Given the description of an element on the screen output the (x, y) to click on. 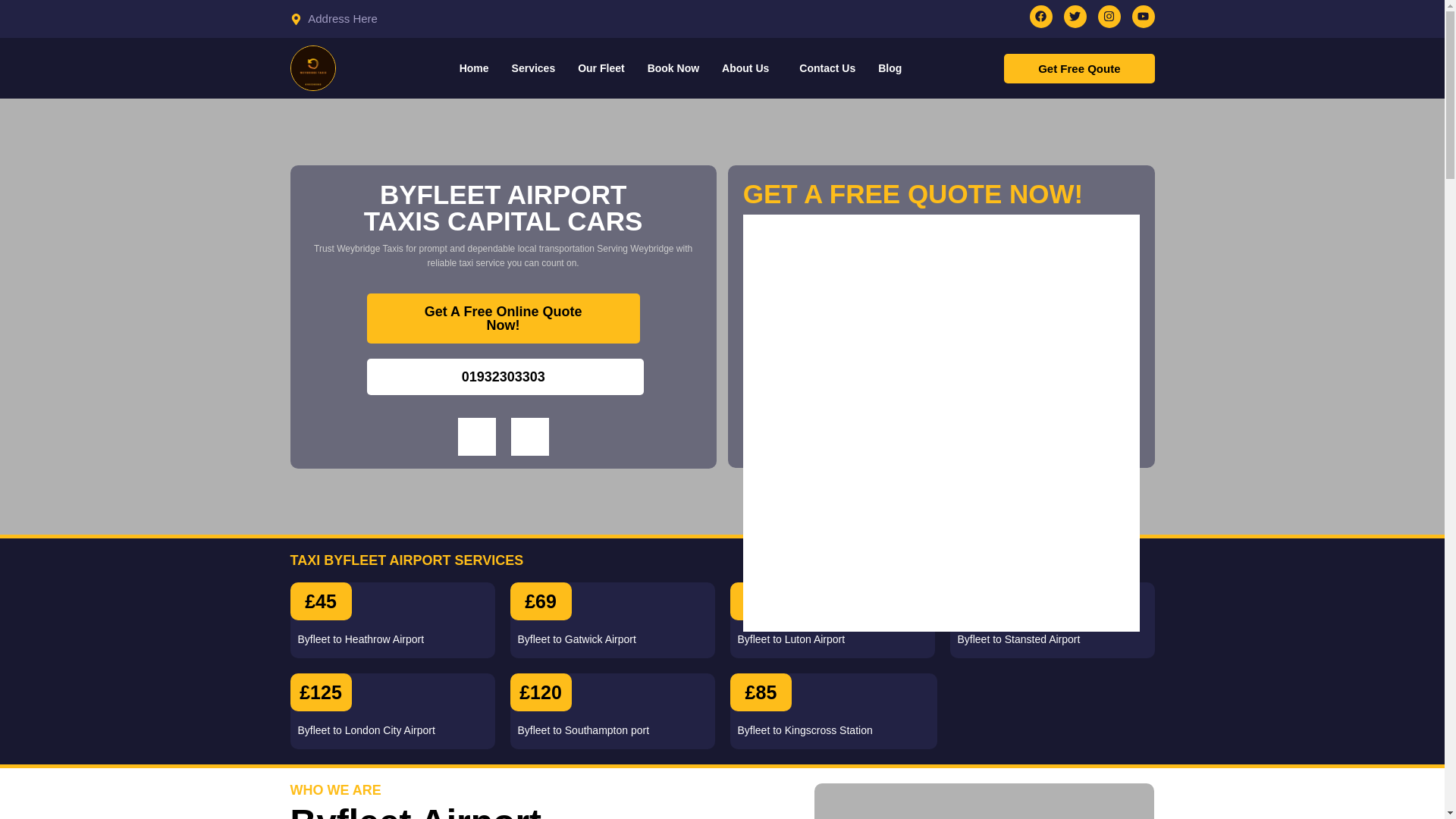
Services (533, 68)
Blog (889, 68)
Book Now (673, 68)
About Us (748, 68)
Get Free Qoute (1079, 67)
Contact Us (826, 68)
Get A Free Online Quote Now! (503, 317)
Home (474, 68)
01932303303 (504, 375)
Our Fleet (600, 68)
